Given the description of an element on the screen output the (x, y) to click on. 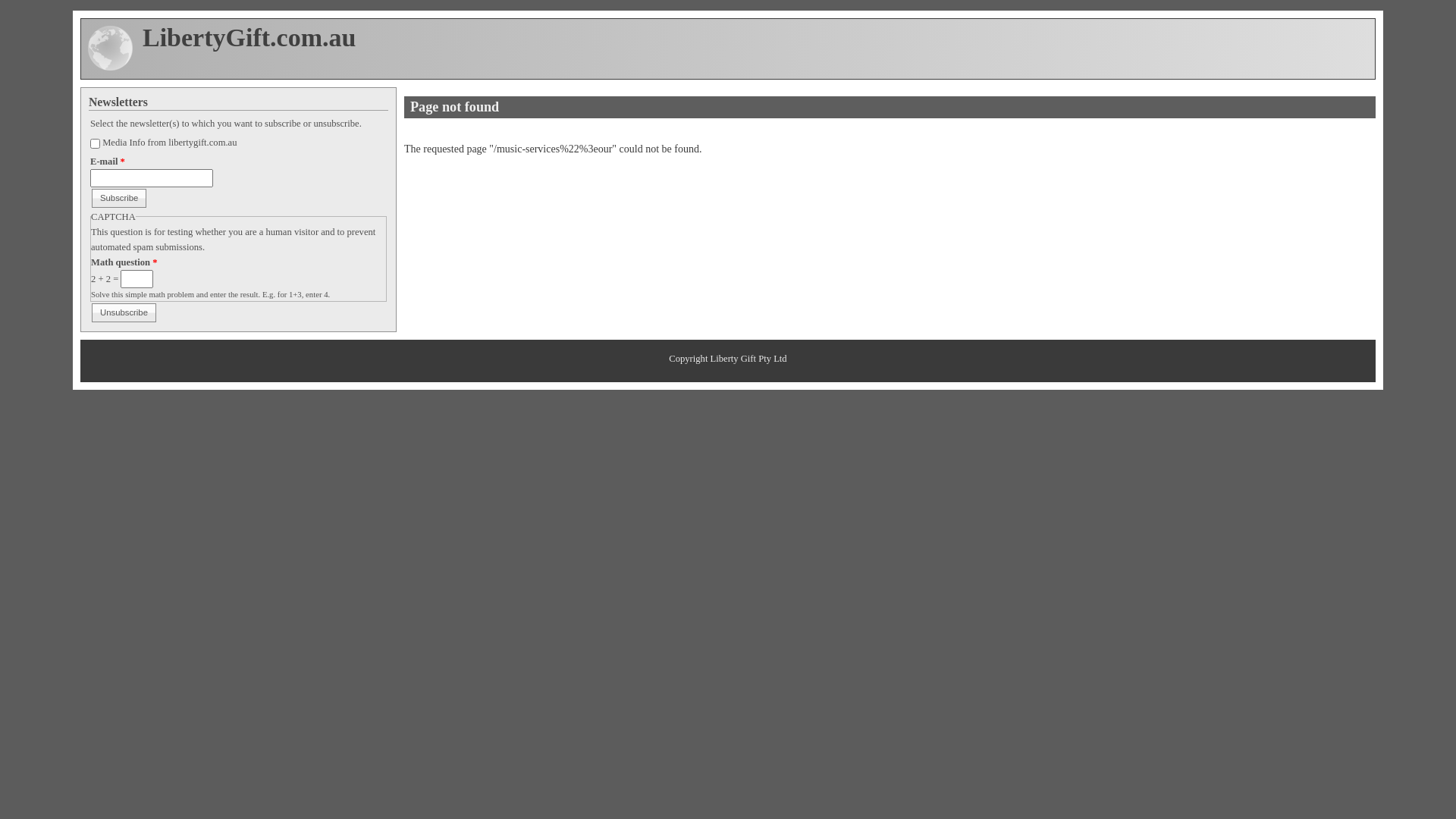
Subscribe Element type: text (118, 197)
Unsubscribe Element type: text (123, 312)
Home Element type: hover (110, 67)
Skip to main content Element type: text (43, 10)
LibertyGift.com.au Element type: text (248, 37)
